Given the description of an element on the screen output the (x, y) to click on. 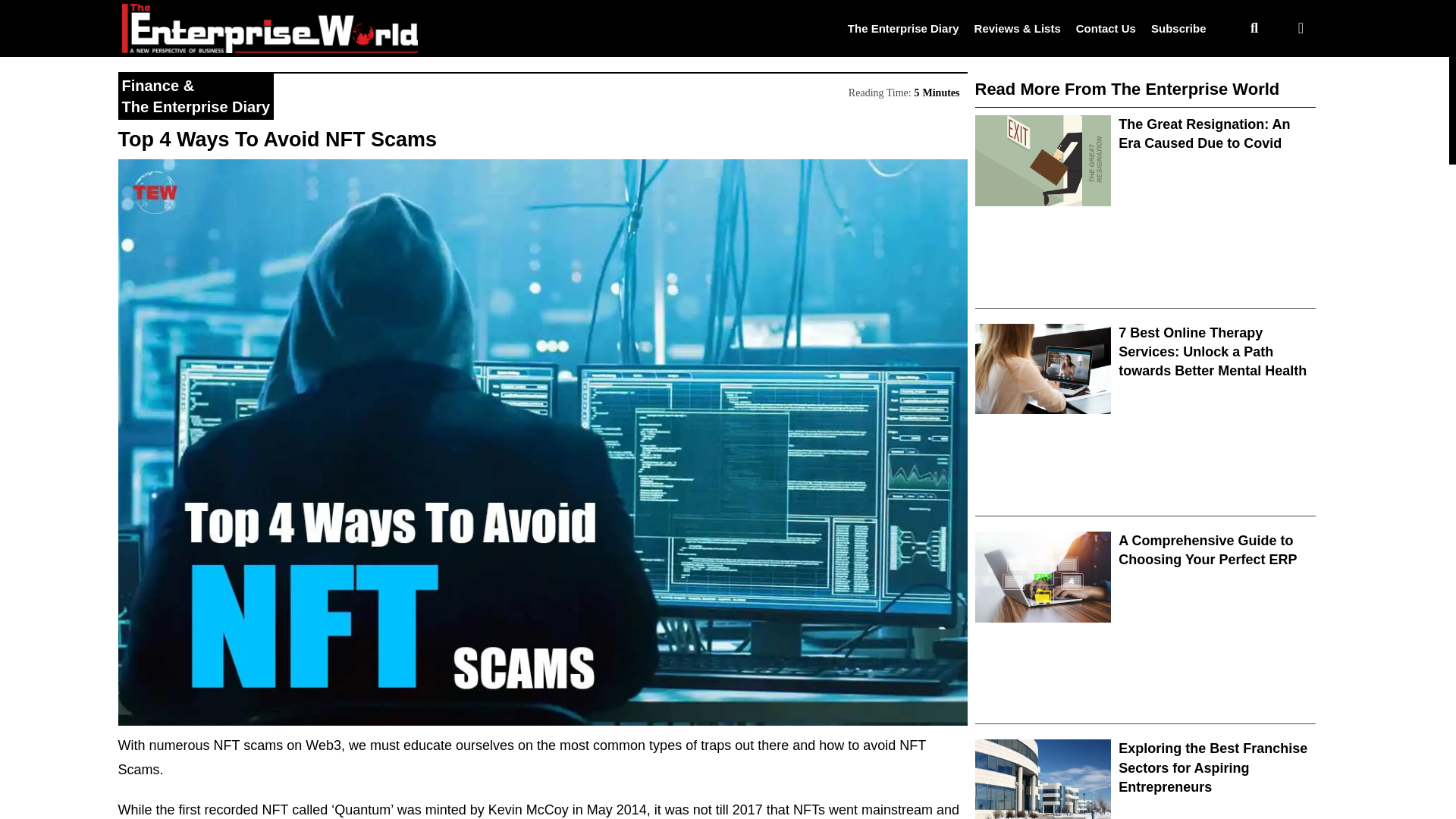
The Great Resignation: An Era Caused Due to Covid (1204, 133)
Subscribe (1179, 28)
The Enterprise Diary (194, 106)
A Comprehensive Guide to Choosing Your Perfect ERP (1207, 550)
The Enterprise Diary (903, 28)
Contact Us (1105, 28)
Finance (149, 85)
